Given the description of an element on the screen output the (x, y) to click on. 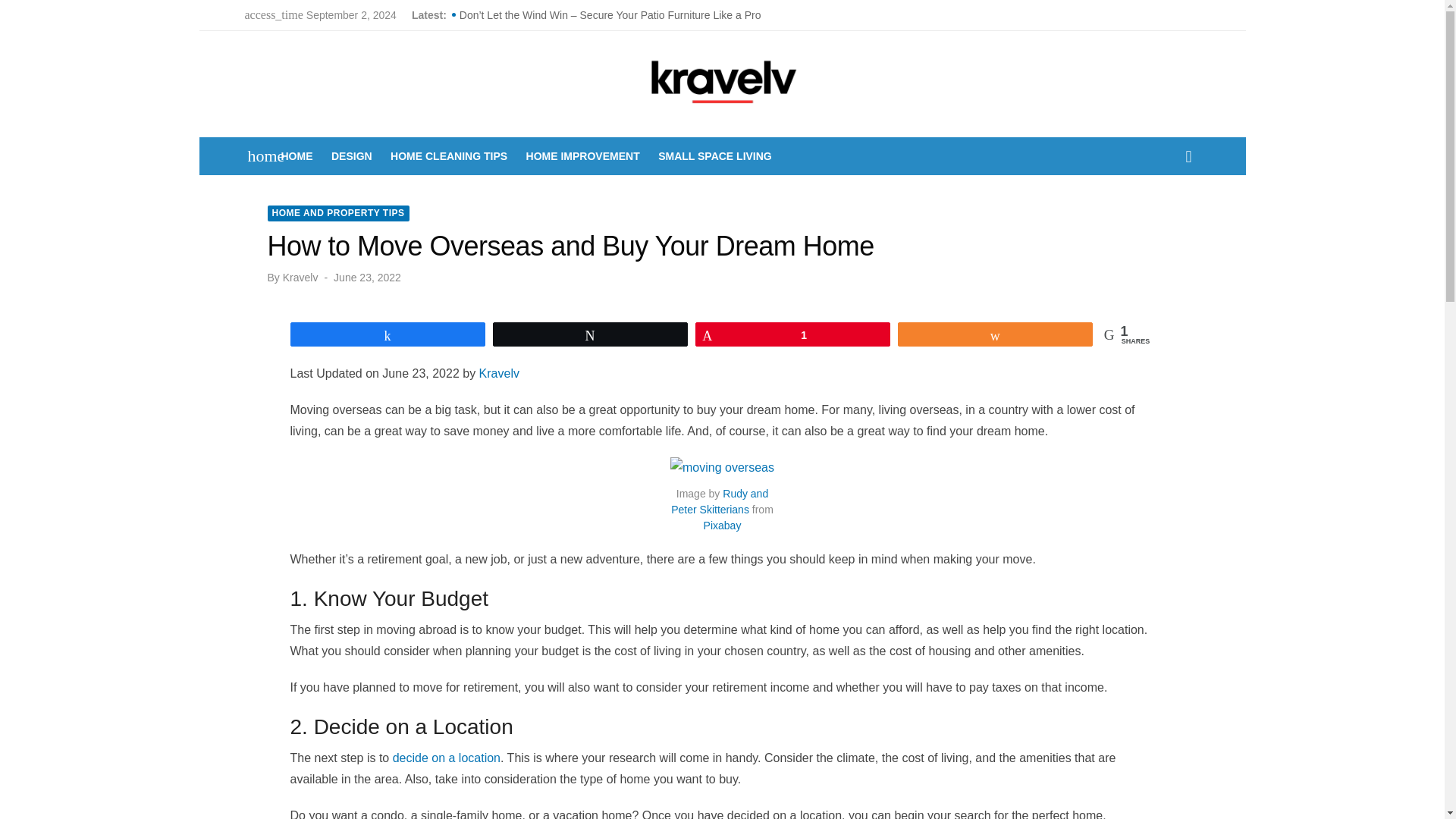
HOME AND PROPERTY TIPS (337, 213)
Home Improvement Tips (582, 156)
Kravelv (499, 373)
Small Space Living (714, 156)
Rudy and Peter Skitterians (719, 501)
DESIGN (352, 156)
decide on a location (446, 757)
HOME IMPROVEMENT (582, 156)
SMALL SPACE LIVING (714, 156)
June 23, 2022 (367, 277)
